Given the description of an element on the screen output the (x, y) to click on. 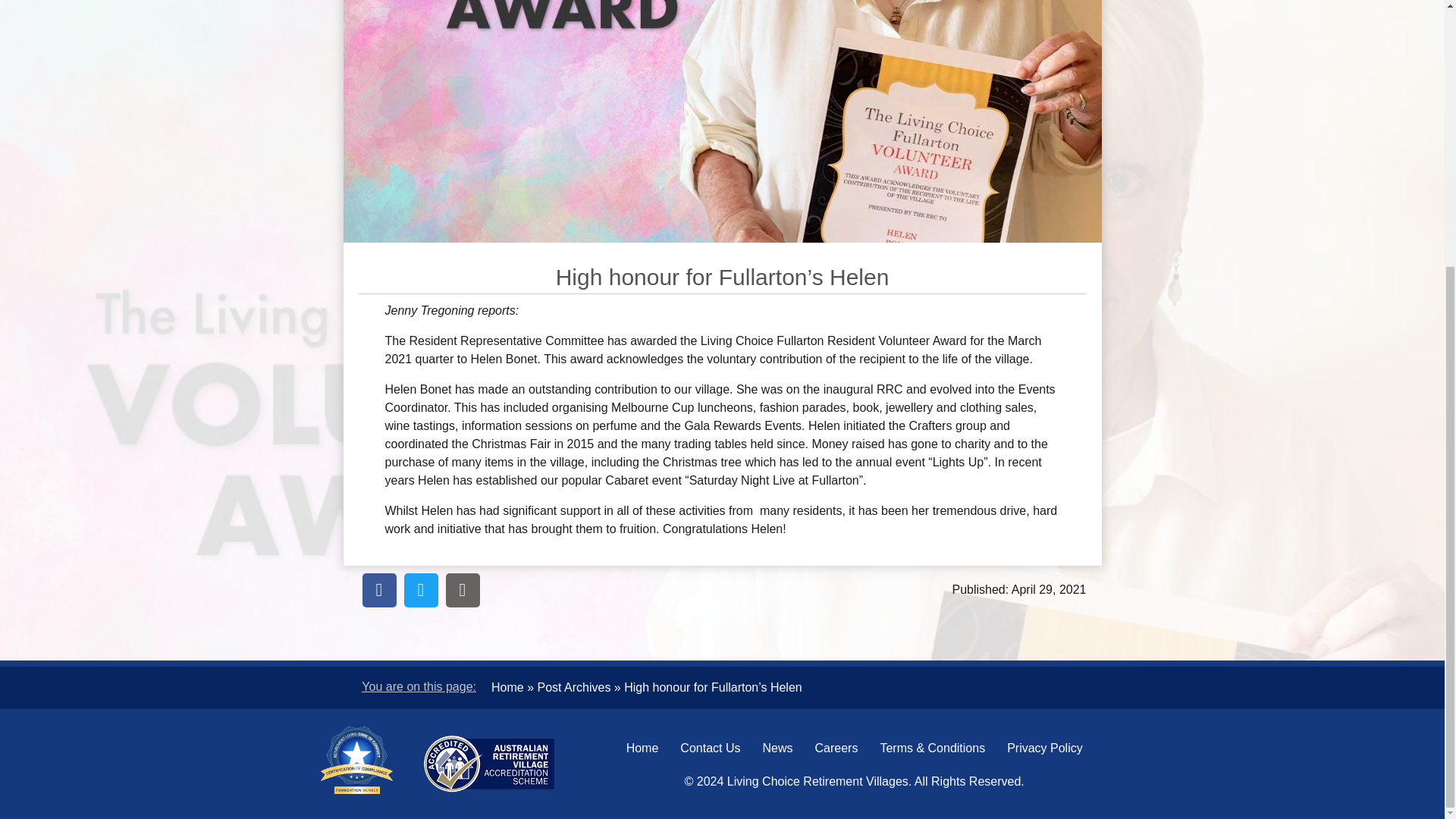
ARVAS-Accredited-Logo-FINAL (488, 763)
rlcc (356, 759)
